Given the description of an element on the screen output the (x, y) to click on. 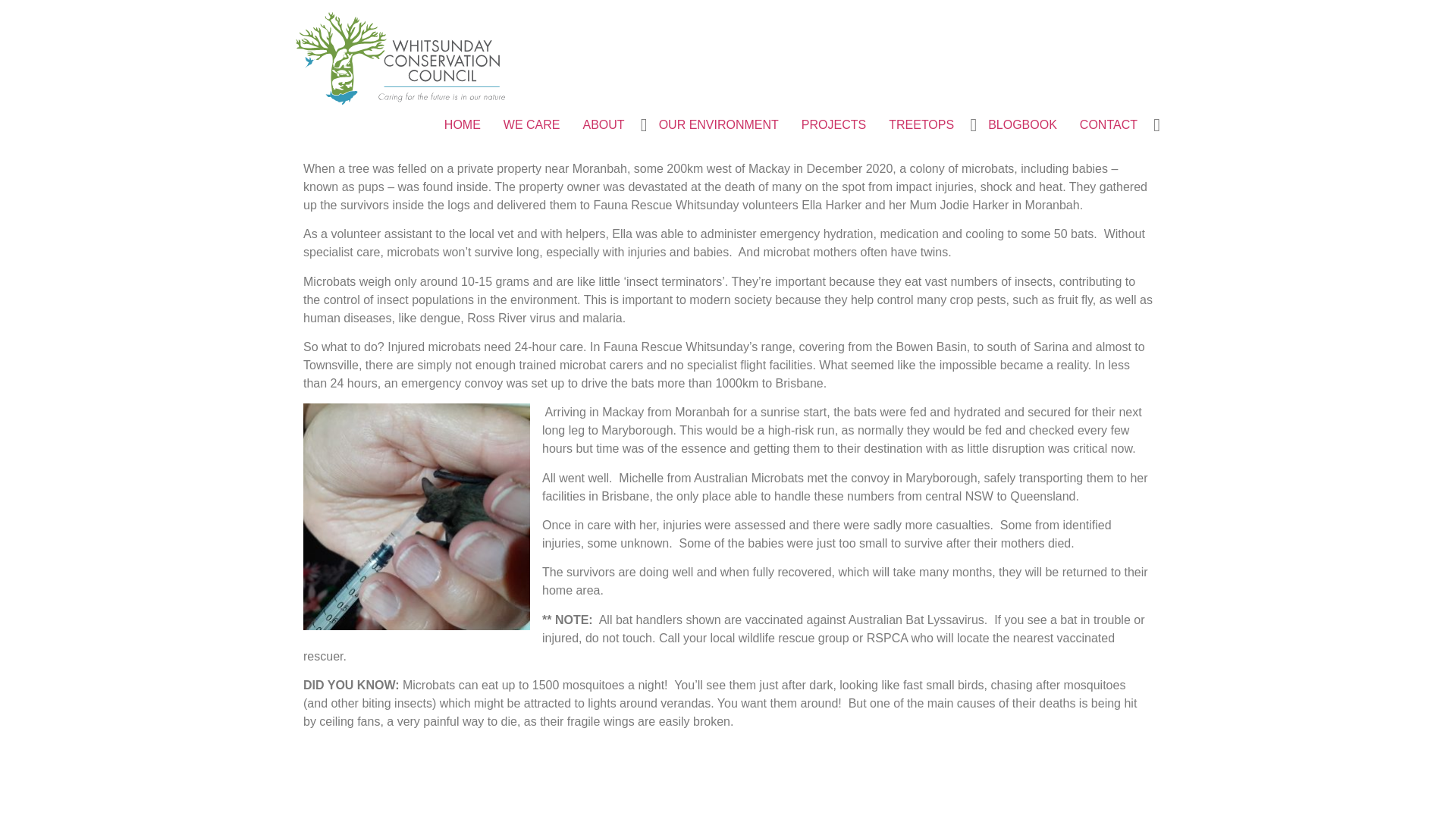
PROJECTS Element type: text (833, 124)
ABOUT Element type: text (603, 124)
CONTACT Element type: text (1108, 124)
BLOGBOOK Element type: text (1022, 124)
OUR ENVIRONMENT Element type: text (718, 124)
WE CARE Element type: text (531, 124)
TREETOPS Element type: text (921, 124)
HOME Element type: text (462, 124)
